Given the description of an element on the screen output the (x, y) to click on. 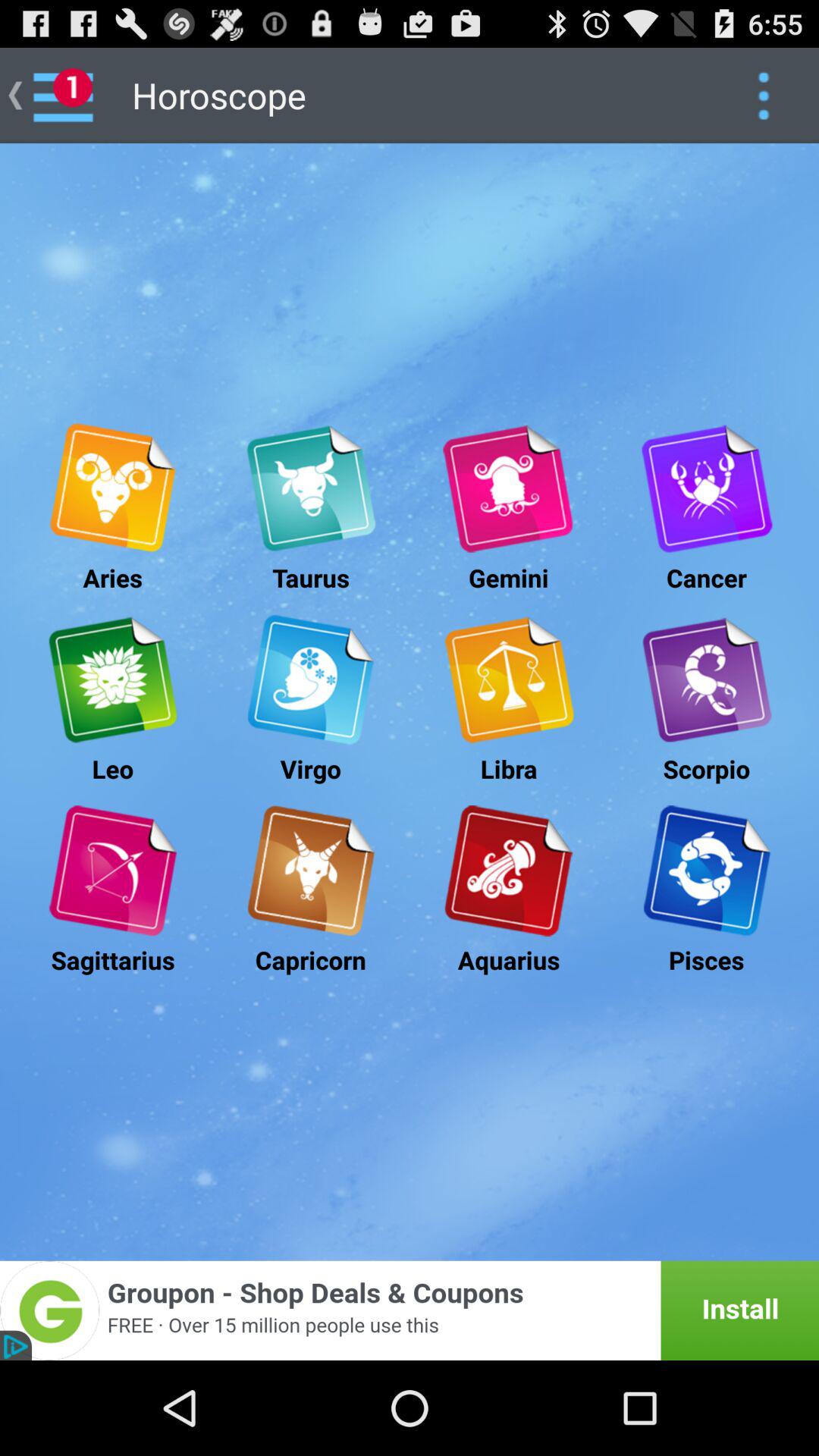
app option (763, 95)
